Given the description of an element on the screen output the (x, y) to click on. 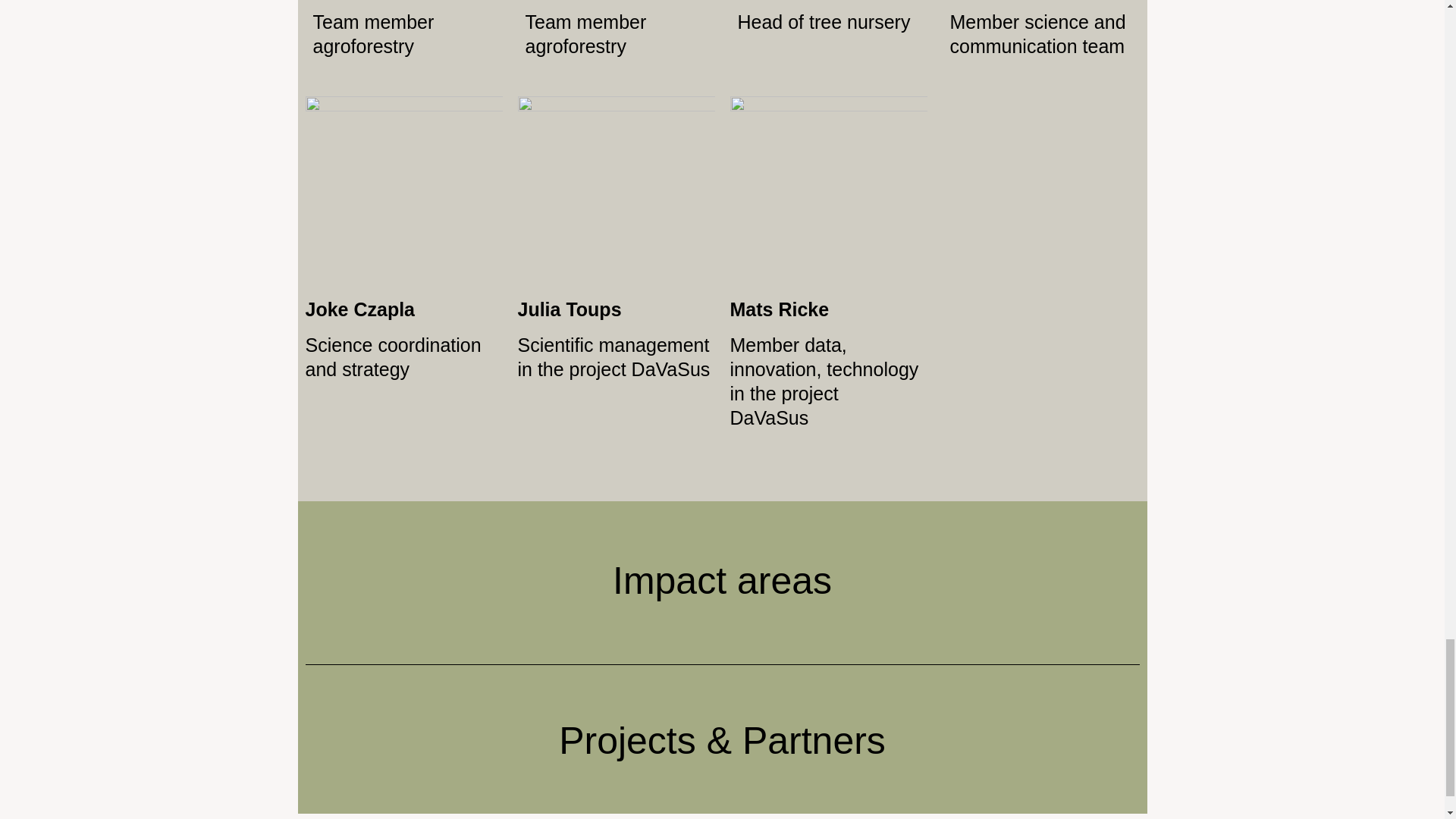
Impact areas (721, 580)
